Given the description of an element on the screen output the (x, y) to click on. 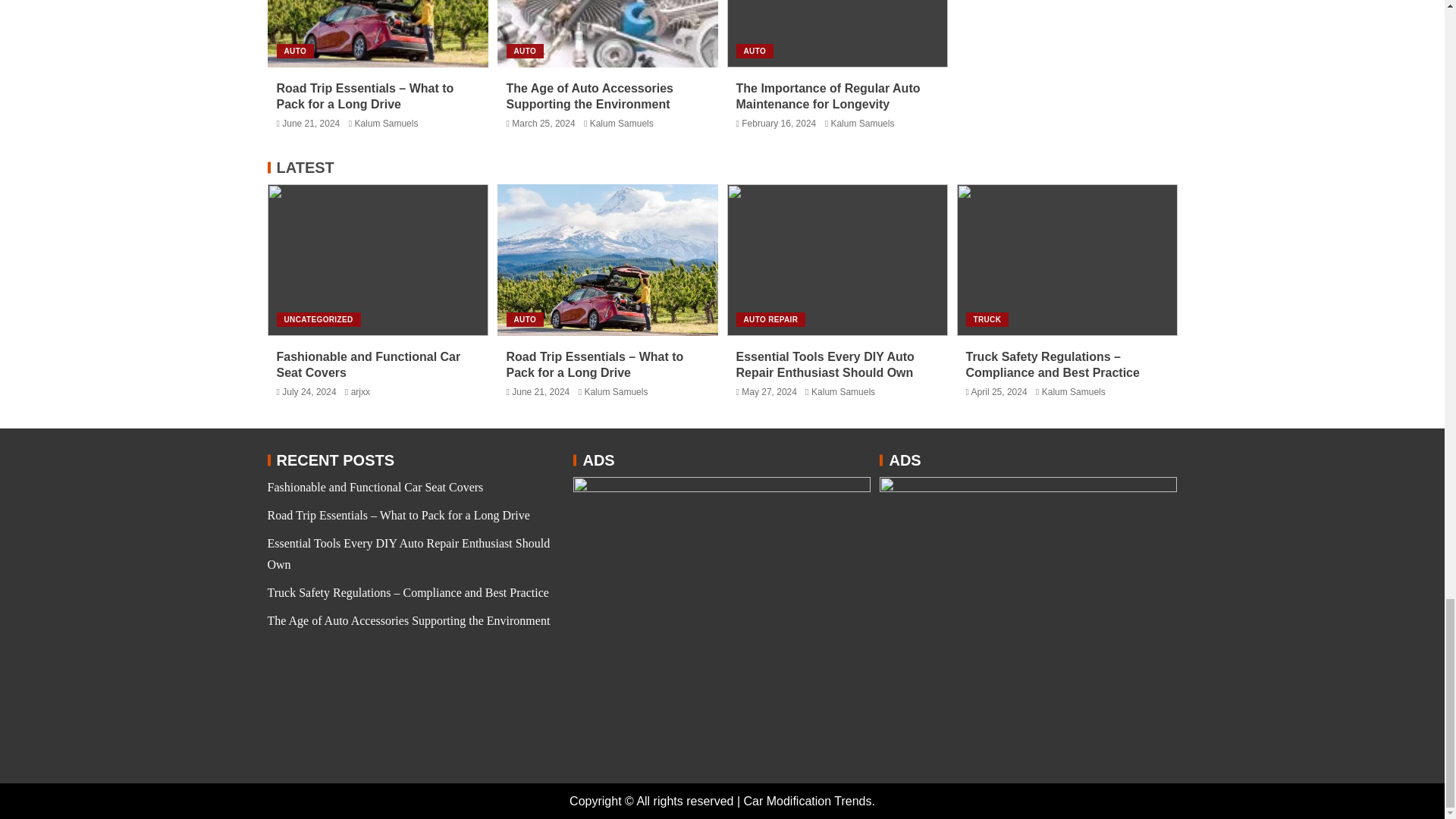
Kalum Samuels (615, 391)
Kalum Samuels (621, 122)
The Importance of Regular Auto Maintenance for Longevity (827, 95)
Essential Tools Every DIY Auto Repair Enthusiast Should Own (824, 364)
AUTO (295, 51)
Kalum Samuels (861, 122)
AUTO (754, 51)
arjxx (359, 391)
Kalum Samuels (842, 391)
AUTO (525, 51)
Fashionable and Functional Car Seat Covers (368, 364)
ADS (1027, 624)
TRUCK (987, 319)
Kalum Samuels (385, 122)
AUTO REPAIR (770, 319)
